Given the description of an element on the screen output the (x, y) to click on. 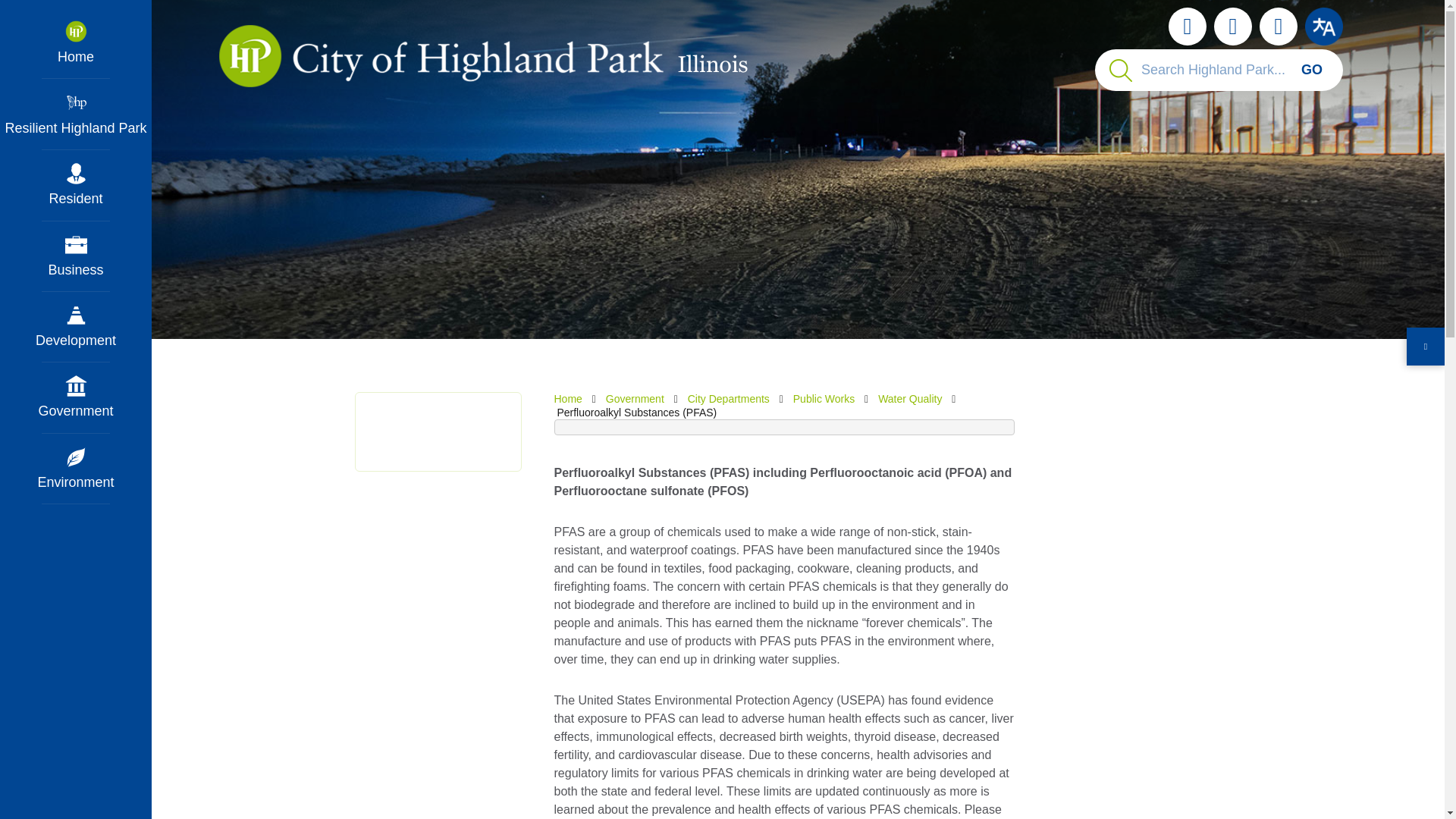
Resilient Highland Park (75, 113)
Business (75, 256)
Home (75, 42)
Resident (75, 184)
